Given the description of an element on the screen output the (x, y) to click on. 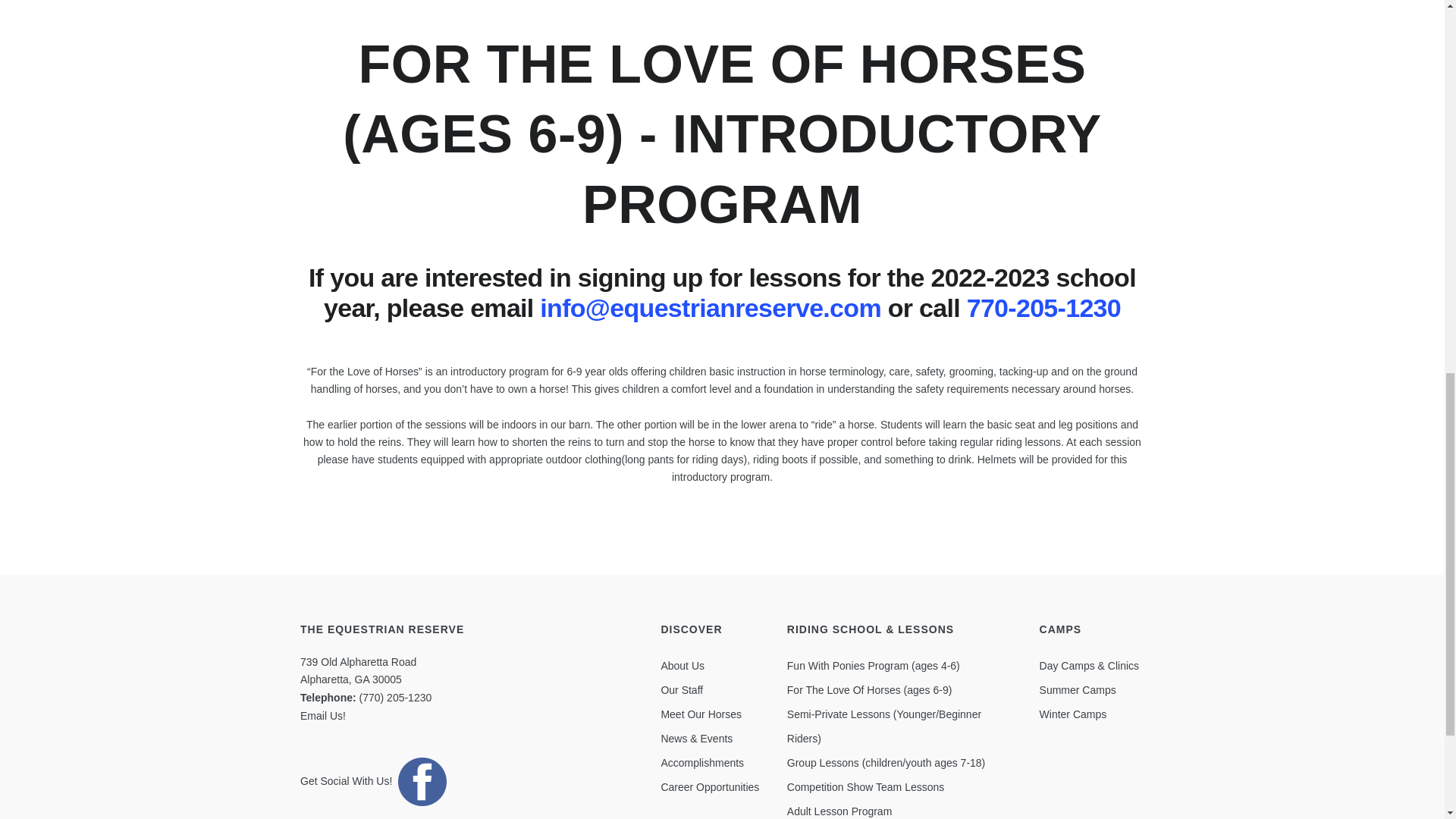
About Us (682, 665)
Career Opportunities (709, 787)
770-205-1230 (1043, 307)
Email Us (320, 715)
Competition Show Team Lessons (865, 787)
Accomplishments (702, 762)
Summer Camps (1077, 689)
Meet Our Horses (701, 714)
Our Staff (682, 689)
Adult Lesson Program (839, 811)
